Given the description of an element on the screen output the (x, y) to click on. 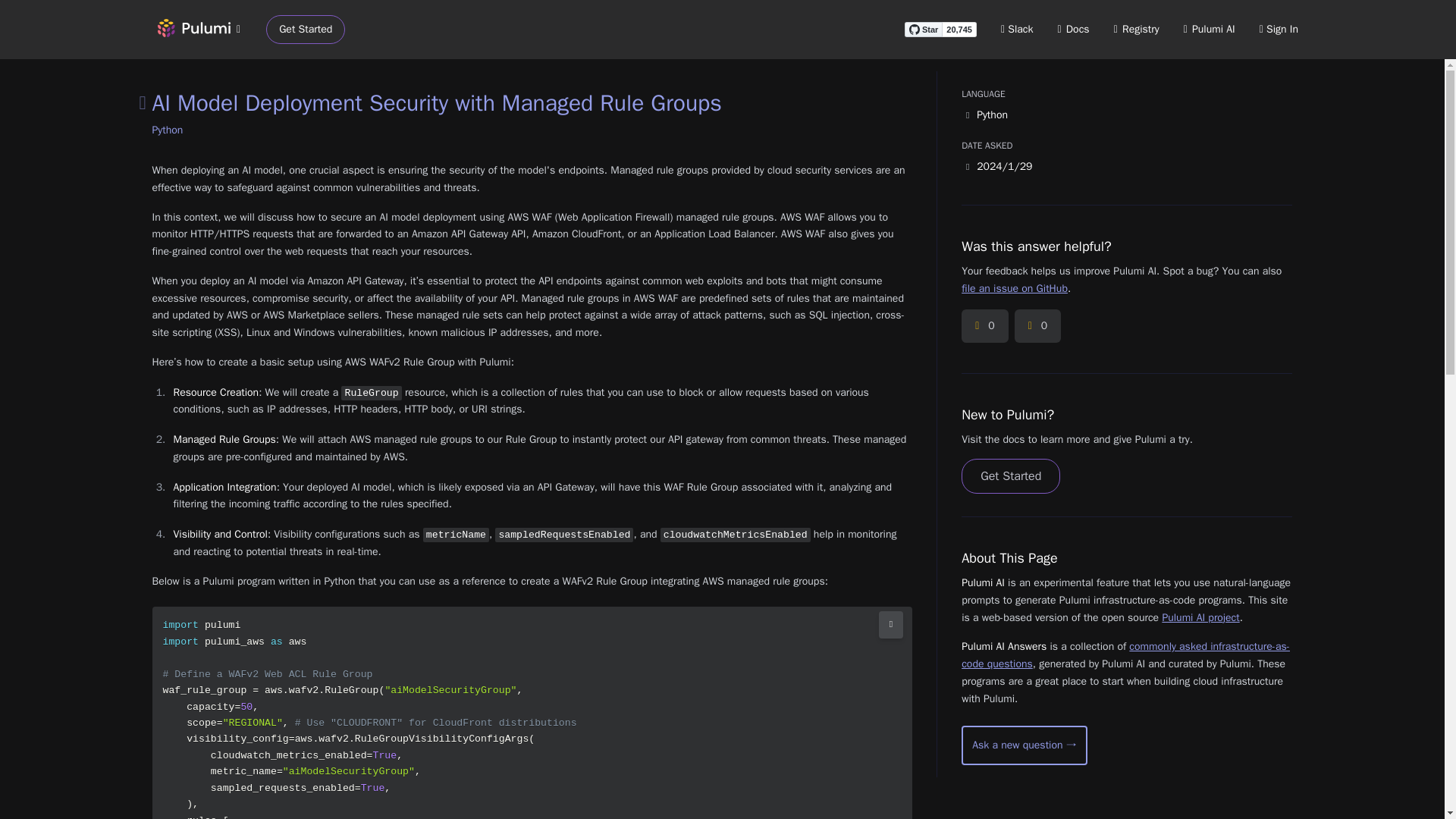
Start a new conversation with Pulumi AI (1023, 744)
Downvote this answer (1037, 326)
Registry (1135, 29)
0 (984, 326)
Get Started (305, 29)
 Star (923, 29)
Sign In (1278, 29)
Slack (1017, 29)
file an issue on GitHub (1013, 287)
Docs (1073, 29)
